Given the description of an element on the screen output the (x, y) to click on. 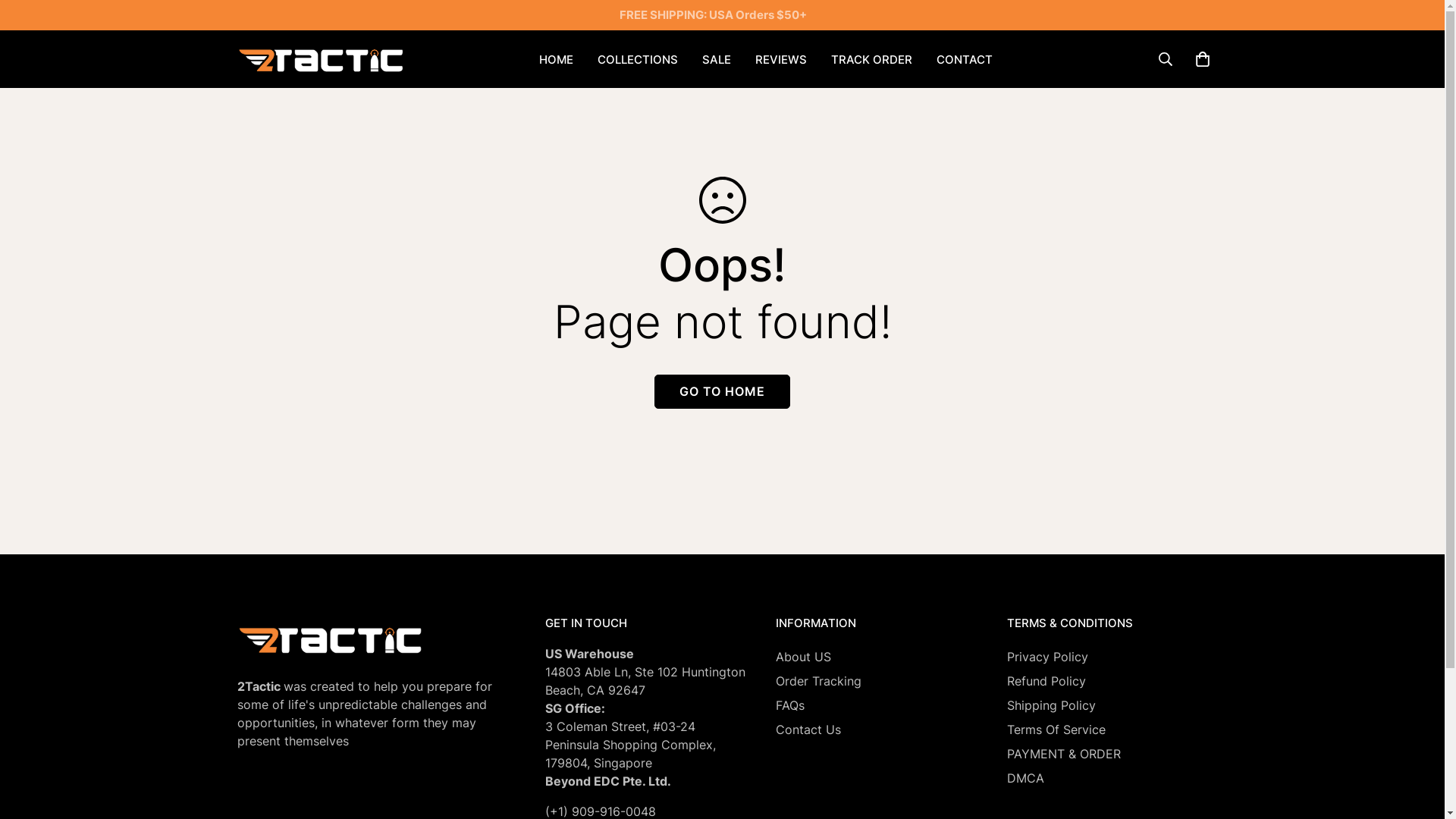
Order Tracking Element type: text (818, 680)
DMCA Element type: text (1025, 777)
Shipping Policy Element type: text (1051, 705)
FAQs Element type: text (789, 705)
COLLECTIONS Element type: text (637, 59)
PAYMENT & ORDER Element type: text (1063, 753)
Refund Policy Element type: text (1046, 680)
HOME Element type: text (556, 59)
CONTACT Element type: text (964, 59)
SALE Element type: text (716, 59)
GO TO HOME Element type: text (722, 391)
FREE SHIPPING: USA Orders $50+ Element type: text (722, 15)
Privacy Policy Element type: text (1047, 656)
About US Element type: text (803, 656)
2Tactic Element type: hover (321, 58)
TRACK ORDER Element type: text (871, 59)
Contact Us Element type: text (807, 729)
REVIEWS Element type: text (781, 59)
Terms Of Service Element type: text (1056, 729)
